Given the description of an element on the screen output the (x, y) to click on. 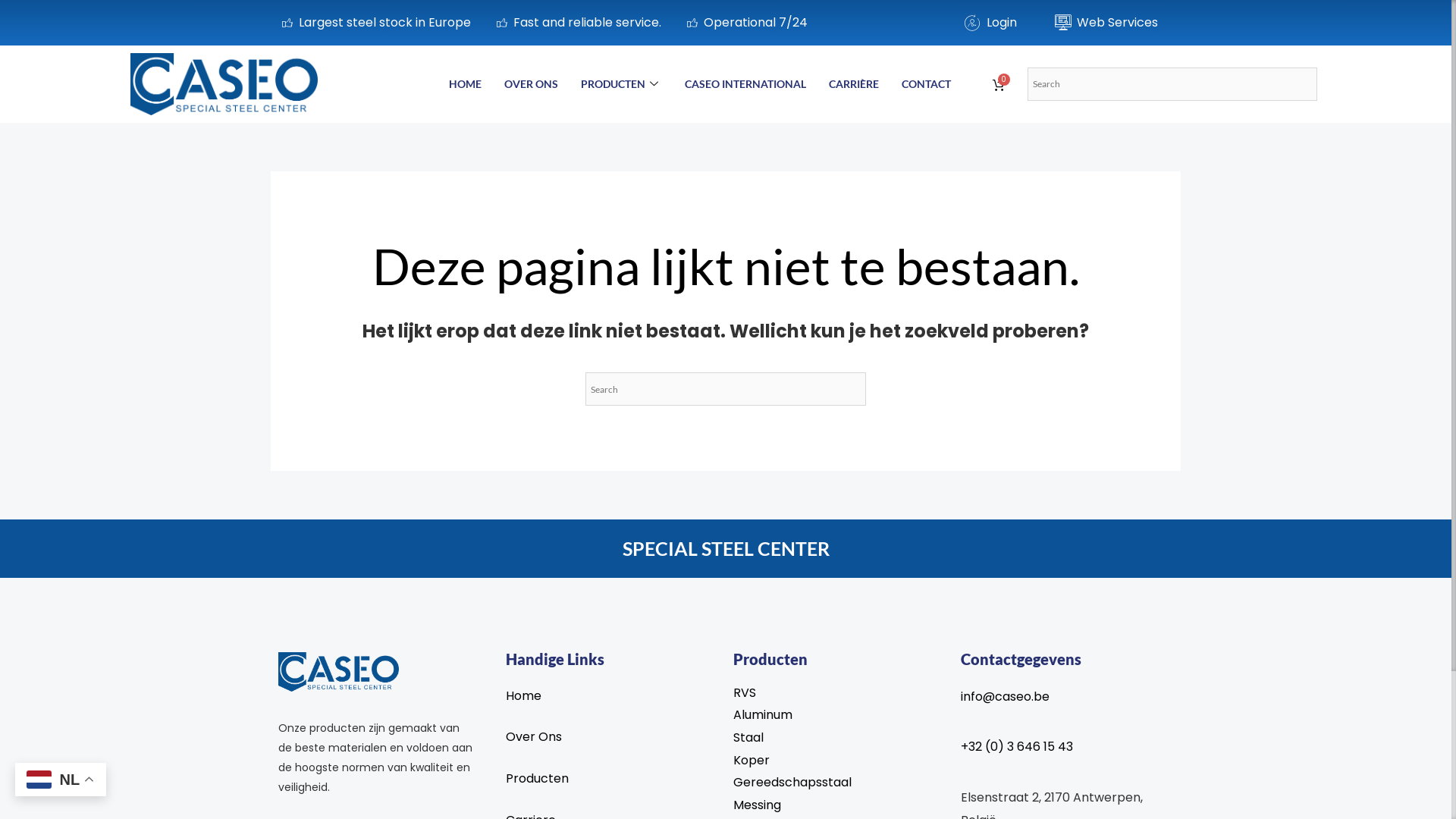
+32 (0) 3 646 15 43 Element type: text (1066, 746)
HOME Element type: text (464, 84)
Over Ons Element type: text (611, 736)
Gereedschapsstaal Element type: text (839, 782)
CASEO INTERNATIONAL Element type: text (745, 84)
RVS Element type: text (839, 692)
Login Element type: text (990, 22)
0 Element type: text (996, 84)
Koper Element type: text (839, 760)
Messing Element type: text (839, 804)
Staal Element type: text (839, 737)
OVER ONS Element type: text (530, 84)
CONTACT Element type: text (926, 84)
PRODUCTEN Element type: text (621, 84)
info@caseo.be Element type: text (1066, 696)
Home Element type: text (611, 695)
Aluminum Element type: text (839, 714)
Producten Element type: text (611, 778)
